Given the description of an element on the screen output the (x, y) to click on. 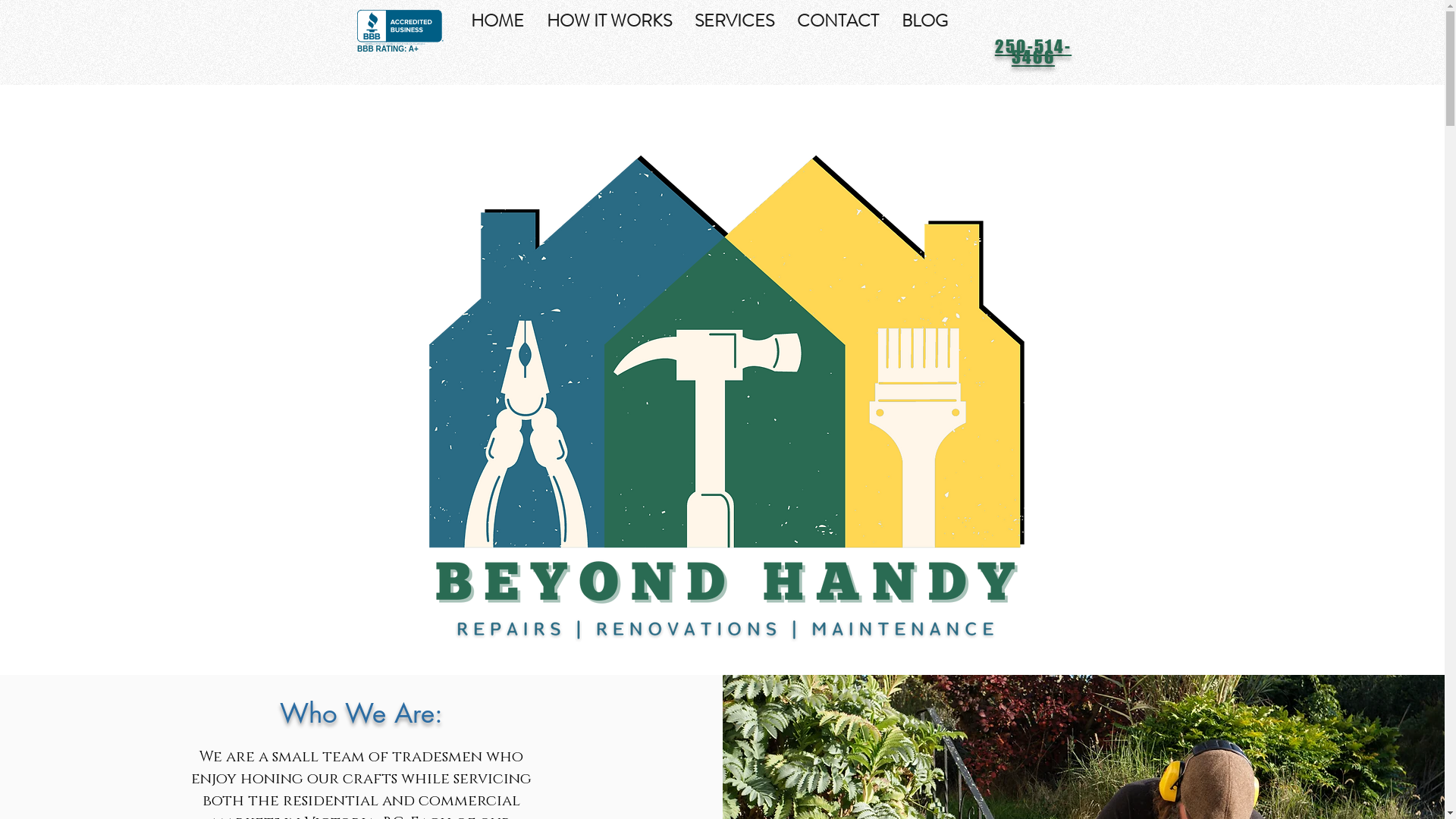
Embedded Content Element type: hover (434, 35)
CONTACT Element type: text (837, 20)
SERVICES Element type: text (733, 20)
BLOG Element type: text (924, 20)
HOW IT WORKS Element type: text (609, 20)
250-514-3466 Element type: text (1032, 51)
HOME Element type: text (497, 20)
